Given the description of an element on the screen output the (x, y) to click on. 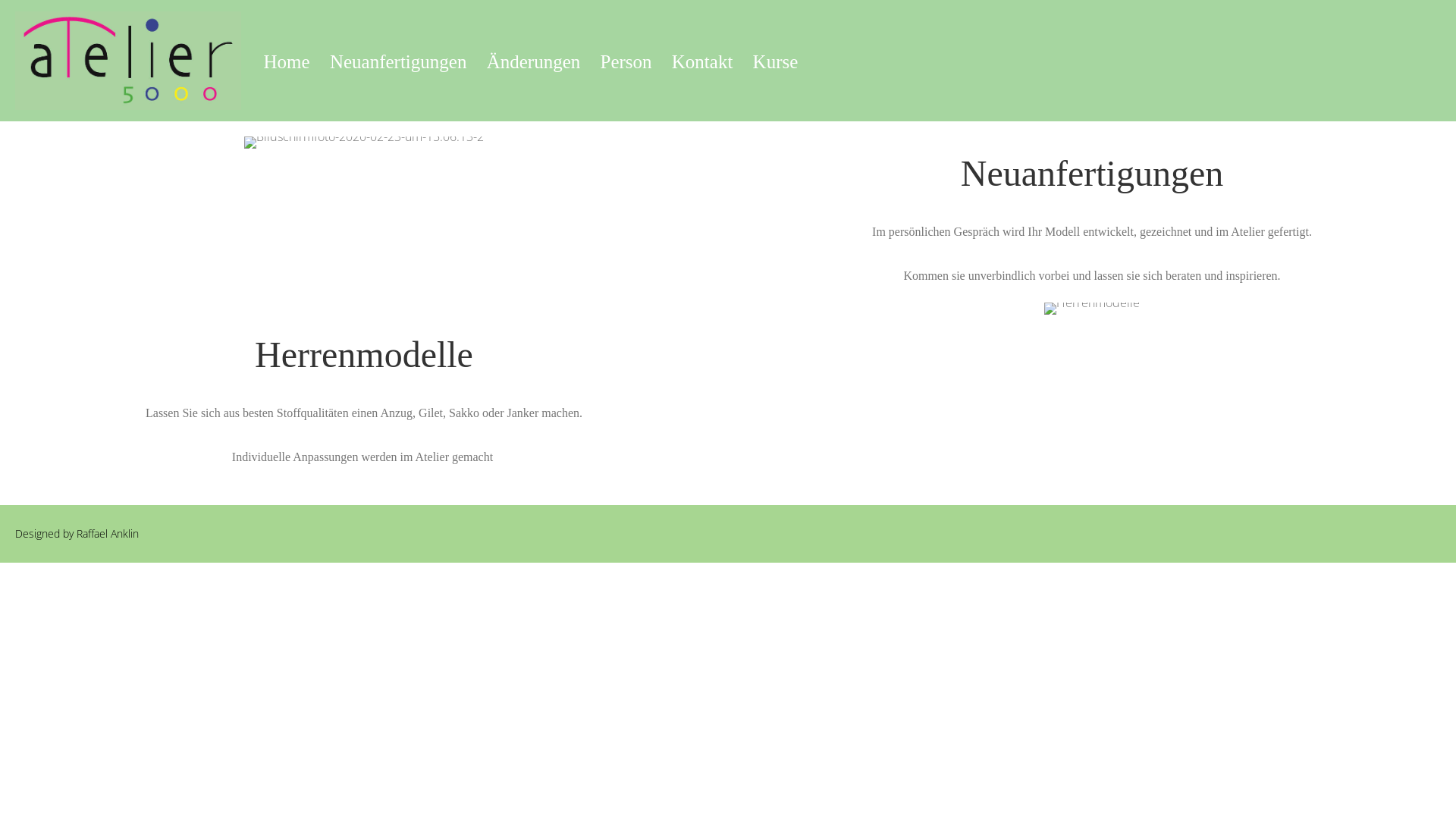
Person Element type: text (625, 62)
Kurse Element type: text (775, 62)
Kontakt Element type: text (702, 62)
Home Element type: text (286, 62)
Neuanfertigungen Element type: text (397, 62)
